Given the description of an element on the screen output the (x, y) to click on. 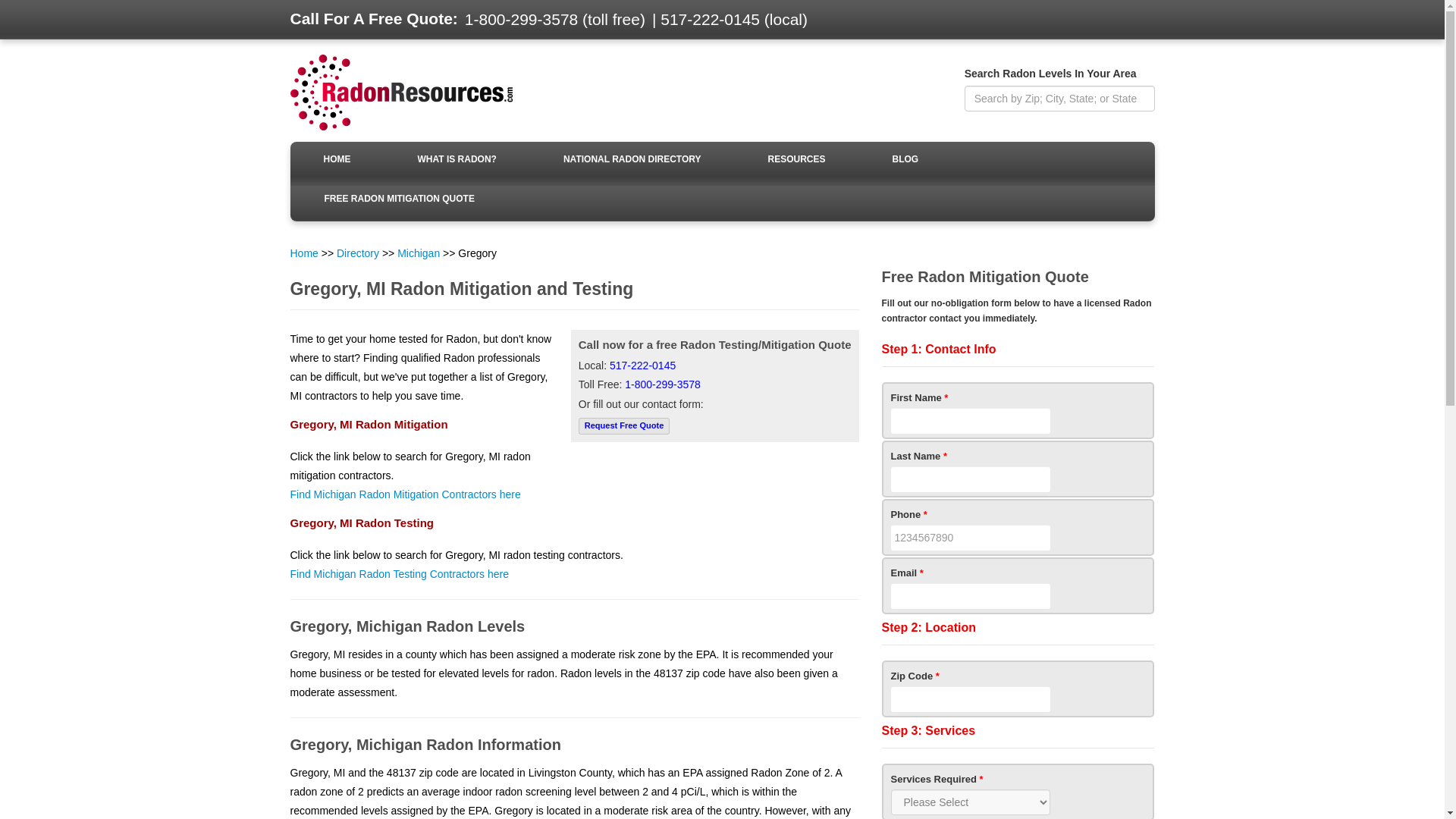
BLOG (905, 160)
Michigan (418, 253)
RESOURCES (796, 160)
Request Free Quote (624, 424)
HOME (336, 160)
Find Michigan Radon Testing Contractors here (398, 573)
WHAT IS RADON? (456, 160)
Find Michigan Radon Mitigation Contractors here (404, 494)
NATIONAL RADON DIRECTORY (632, 160)
Home (303, 253)
